Given the description of an element on the screen output the (x, y) to click on. 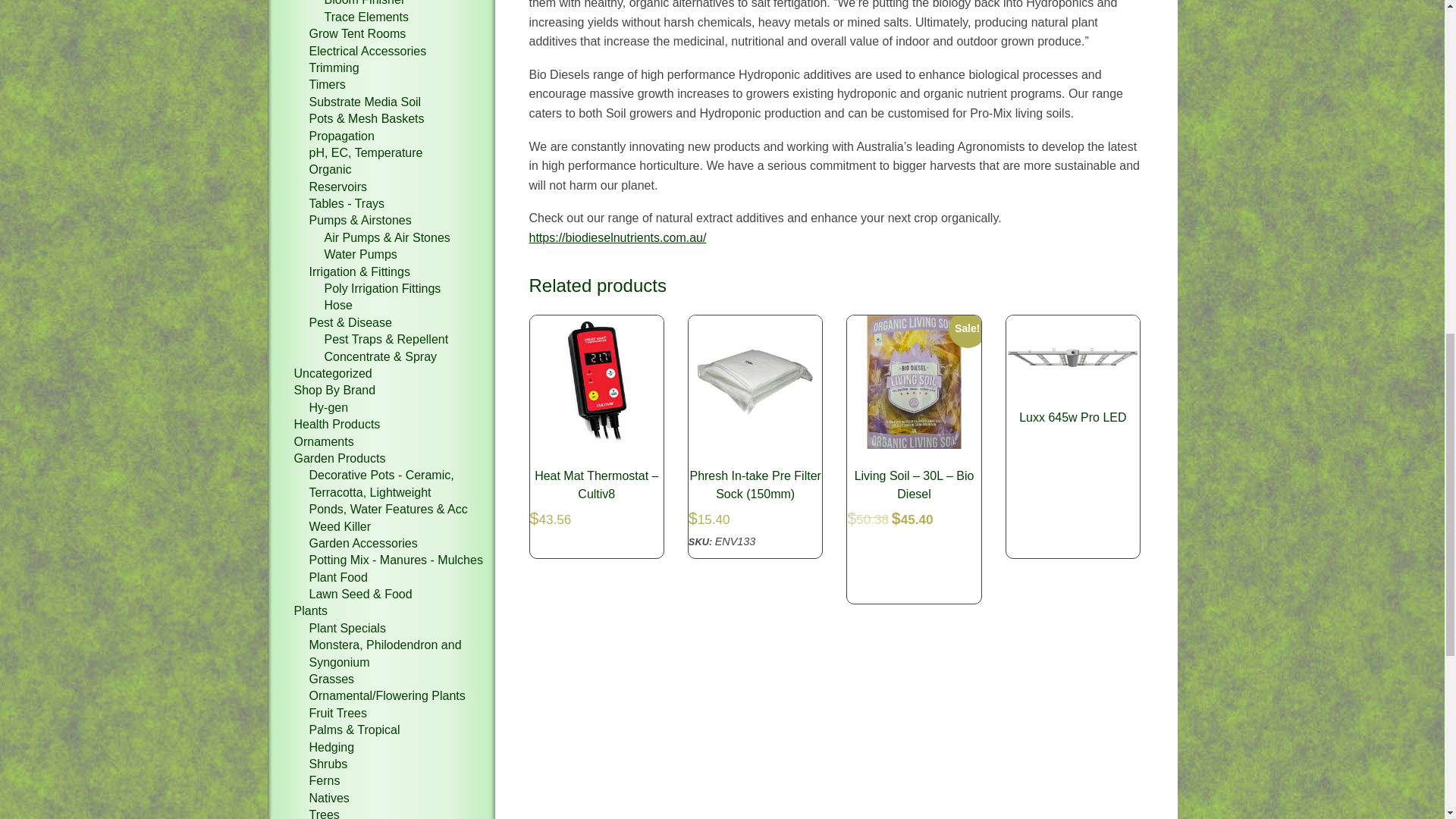
Luxx 645w Pro LED (1073, 374)
